Given the description of an element on the screen output the (x, y) to click on. 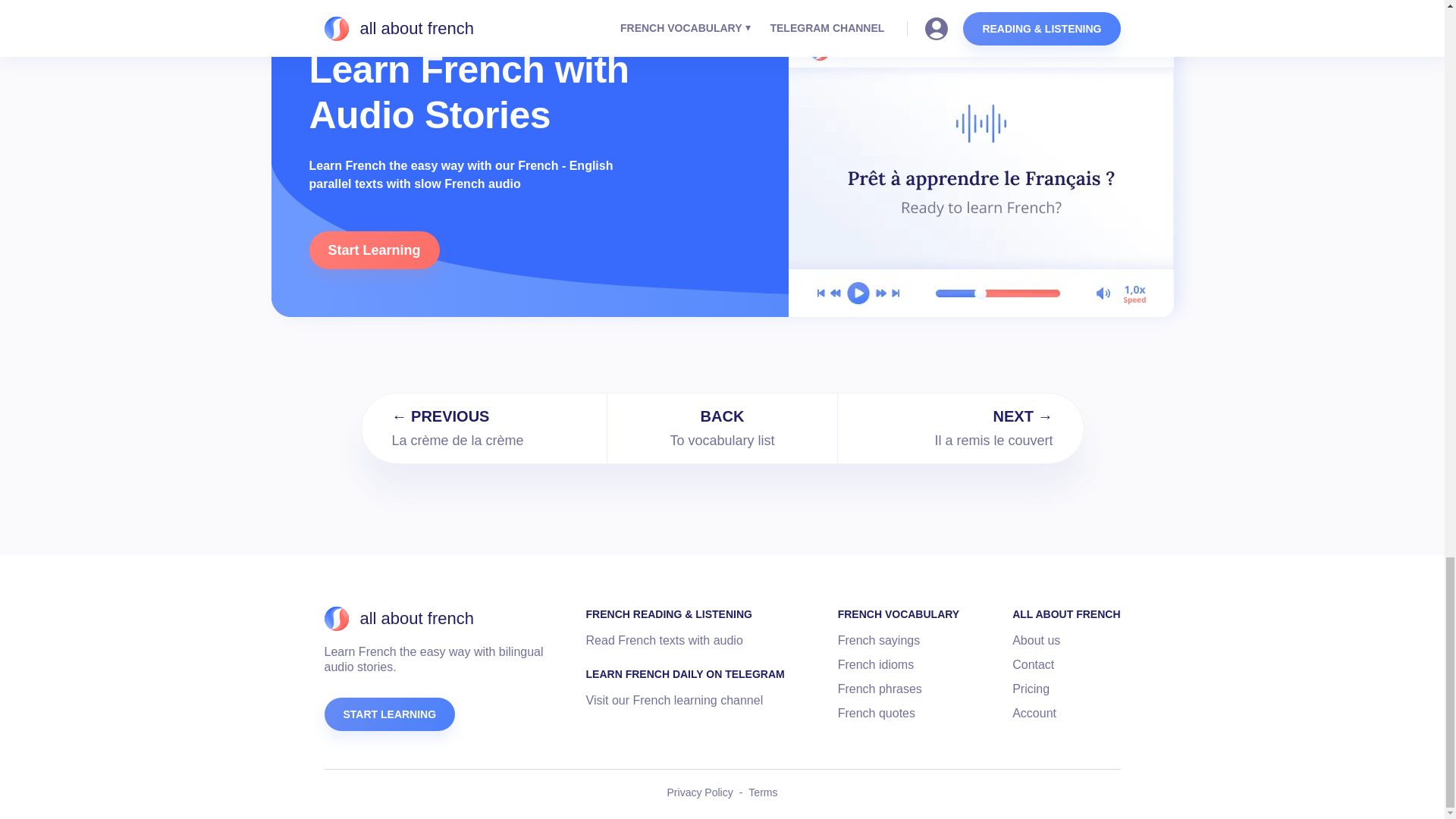
Contact (1032, 664)
START LEARNING (389, 714)
LEARN FRENCH DAILY ON TELEGRAM (685, 673)
Read French texts with audio (664, 640)
all about french (399, 618)
French phrases (879, 688)
ALL ABOUT FRENCH (1065, 613)
French sayings (879, 640)
French quotes (876, 713)
Visit our French learning channel (674, 700)
